Given the description of an element on the screen output the (x, y) to click on. 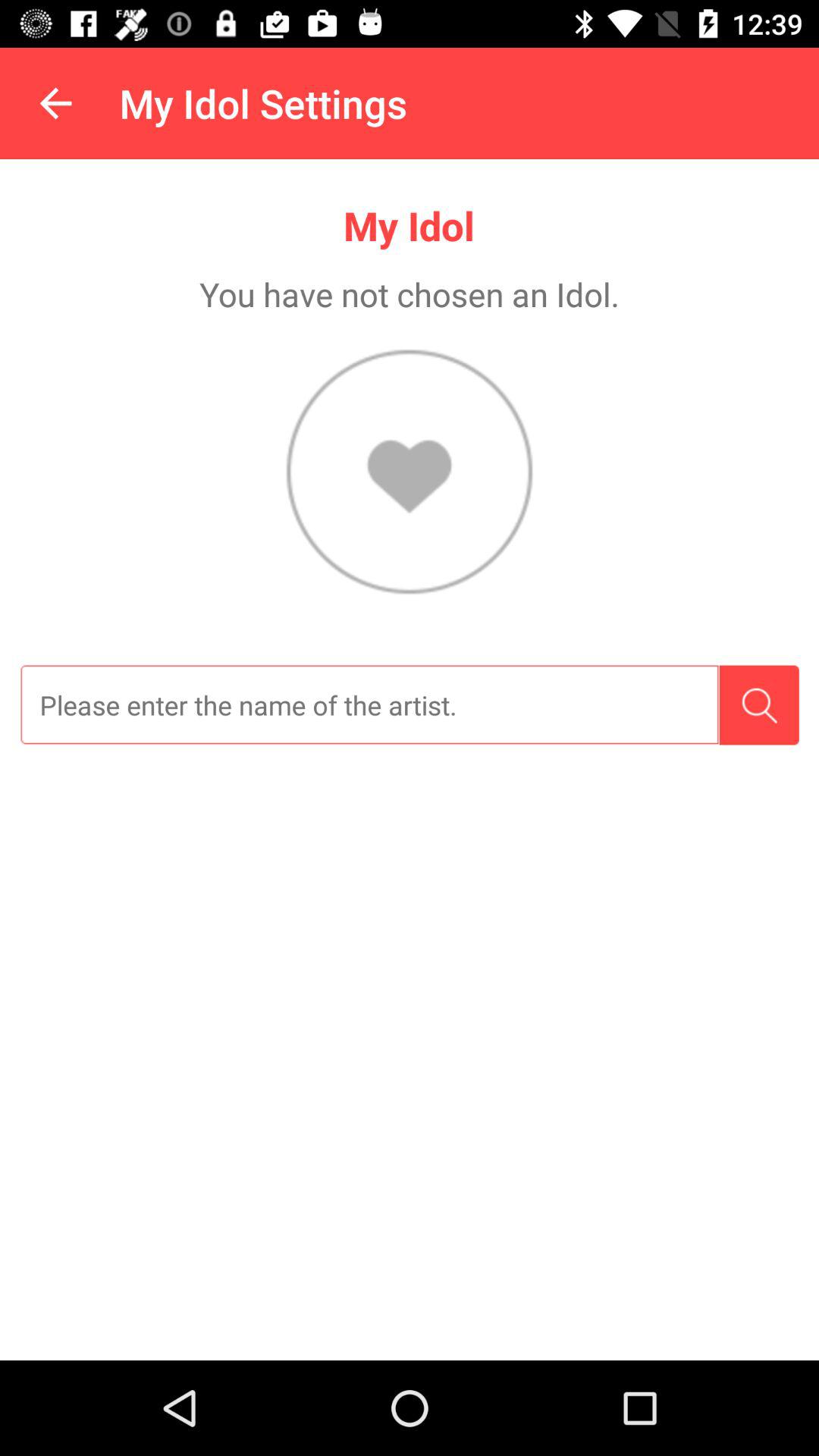
select the item on the right (759, 705)
